Given the description of an element on the screen output the (x, y) to click on. 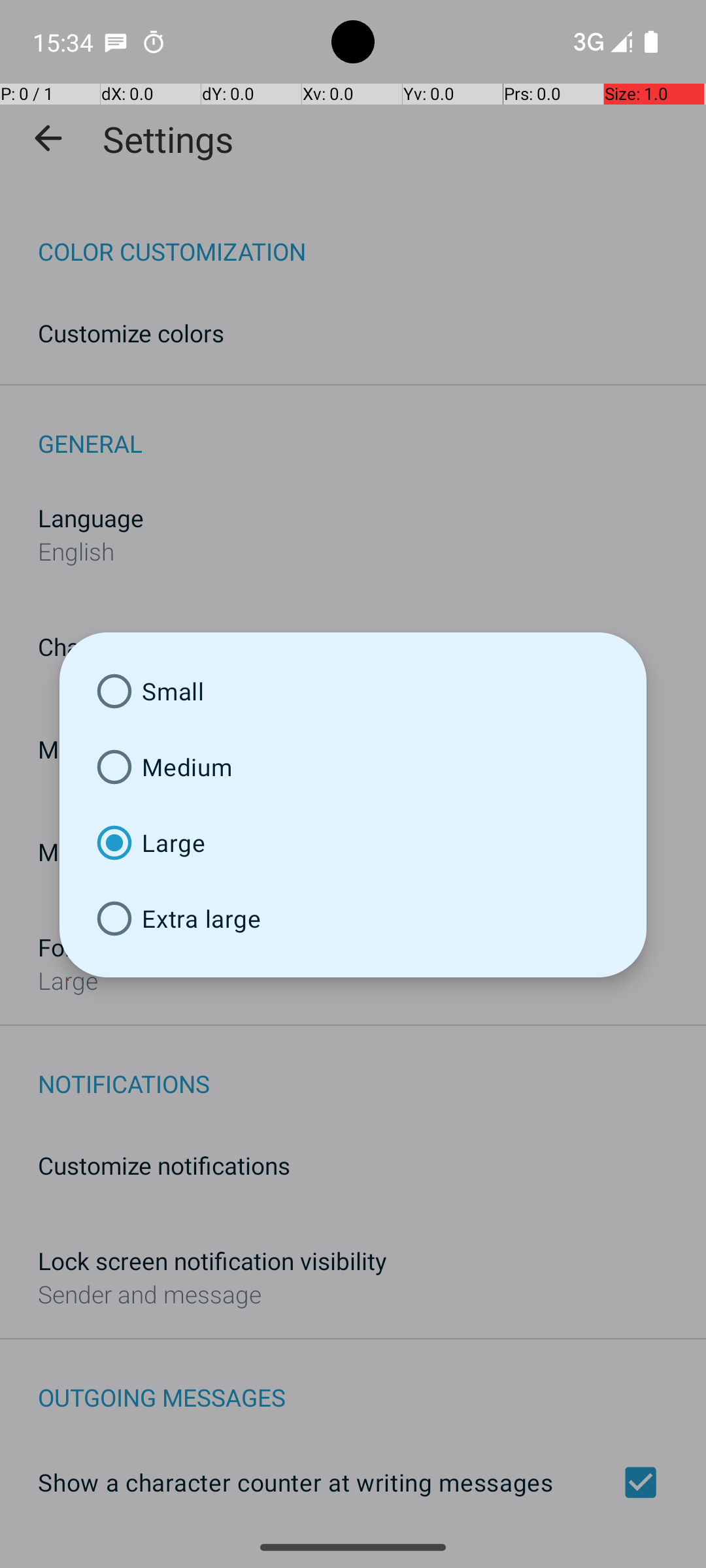
Small Element type: android.widget.RadioButton (352, 691)
Large Element type: android.widget.RadioButton (352, 842)
Extra large Element type: android.widget.RadioButton (352, 918)
